Given the description of an element on the screen output the (x, y) to click on. 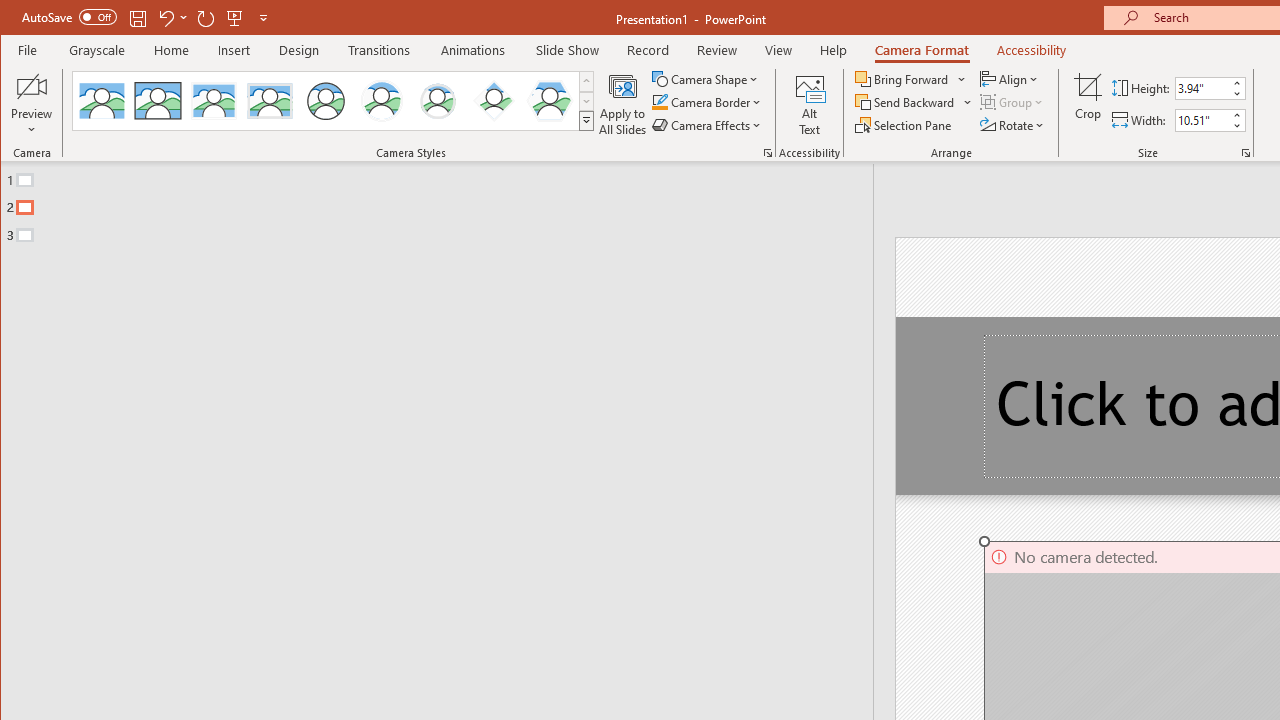
Simple Frame Circle (326, 100)
Cameo Height (1201, 88)
Center Shadow Diamond (493, 100)
Center Shadow Rectangle (213, 100)
Grayscale (97, 50)
Enable Camera Preview (31, 86)
Outline (445, 203)
